Given the description of an element on the screen output the (x, y) to click on. 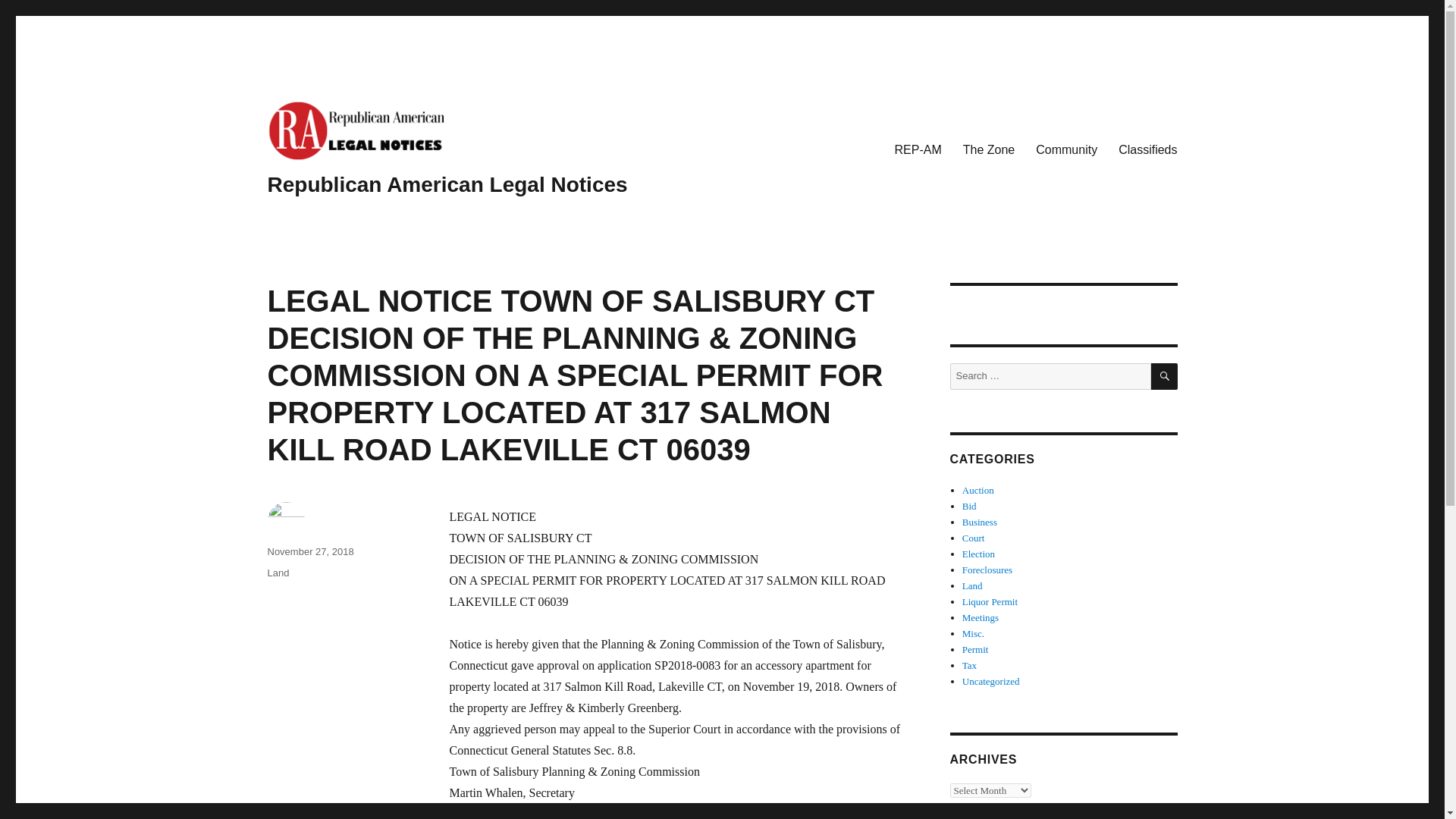
Election (978, 553)
Meetings (980, 617)
Land (277, 572)
Foreclosures (986, 569)
Land (972, 585)
Misc. (973, 633)
Permit (975, 649)
Uncategorized (991, 681)
Bid (969, 505)
Republican American Legal Notices (446, 184)
SEARCH (1164, 376)
Liquor Permit (989, 601)
Community (1066, 149)
Business (979, 521)
November 27, 2018 (309, 551)
